Given the description of an element on the screen output the (x, y) to click on. 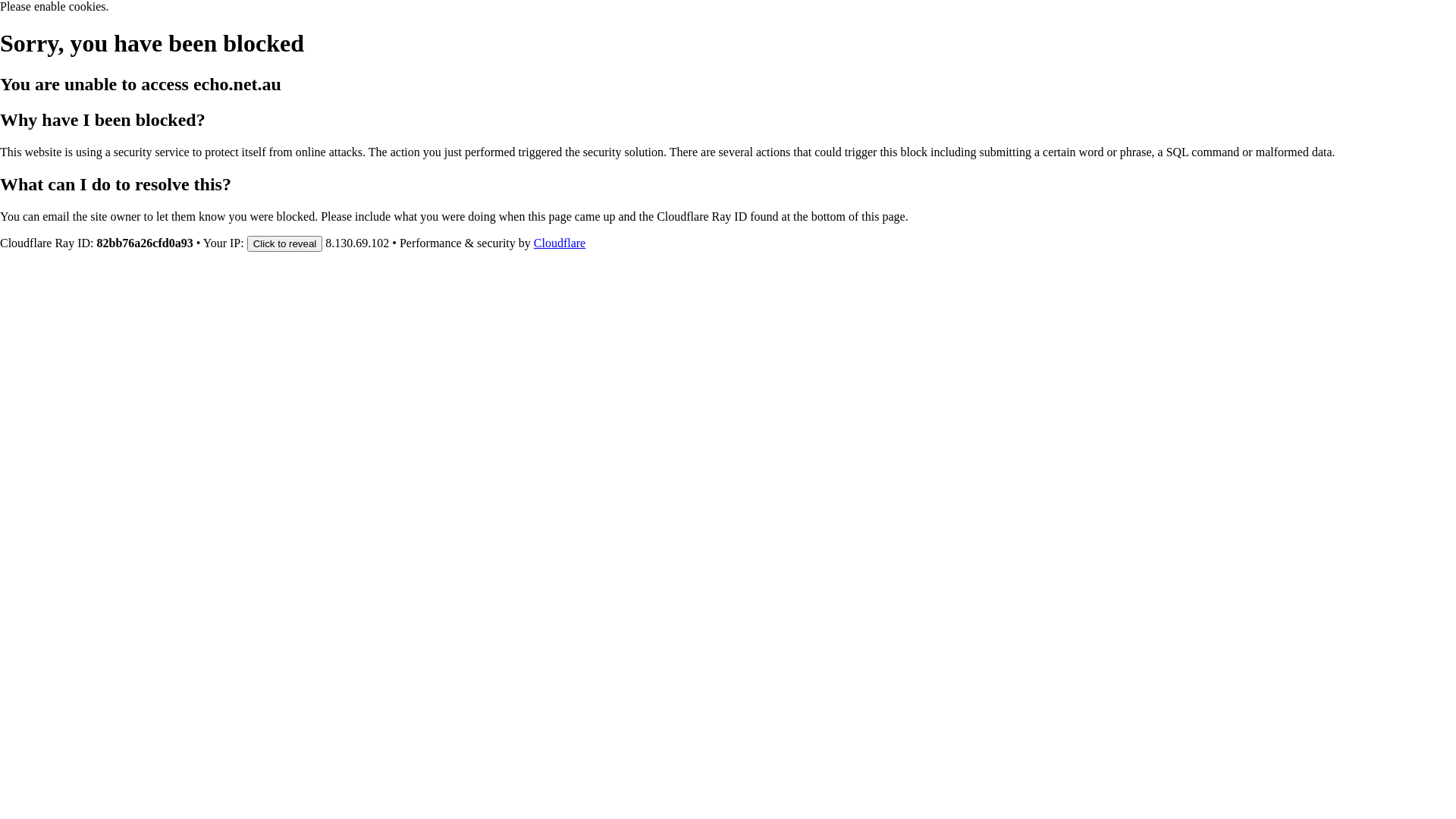
Click to reveal Element type: text (285, 243)
Cloudflare Element type: text (559, 242)
